Given the description of an element on the screen output the (x, y) to click on. 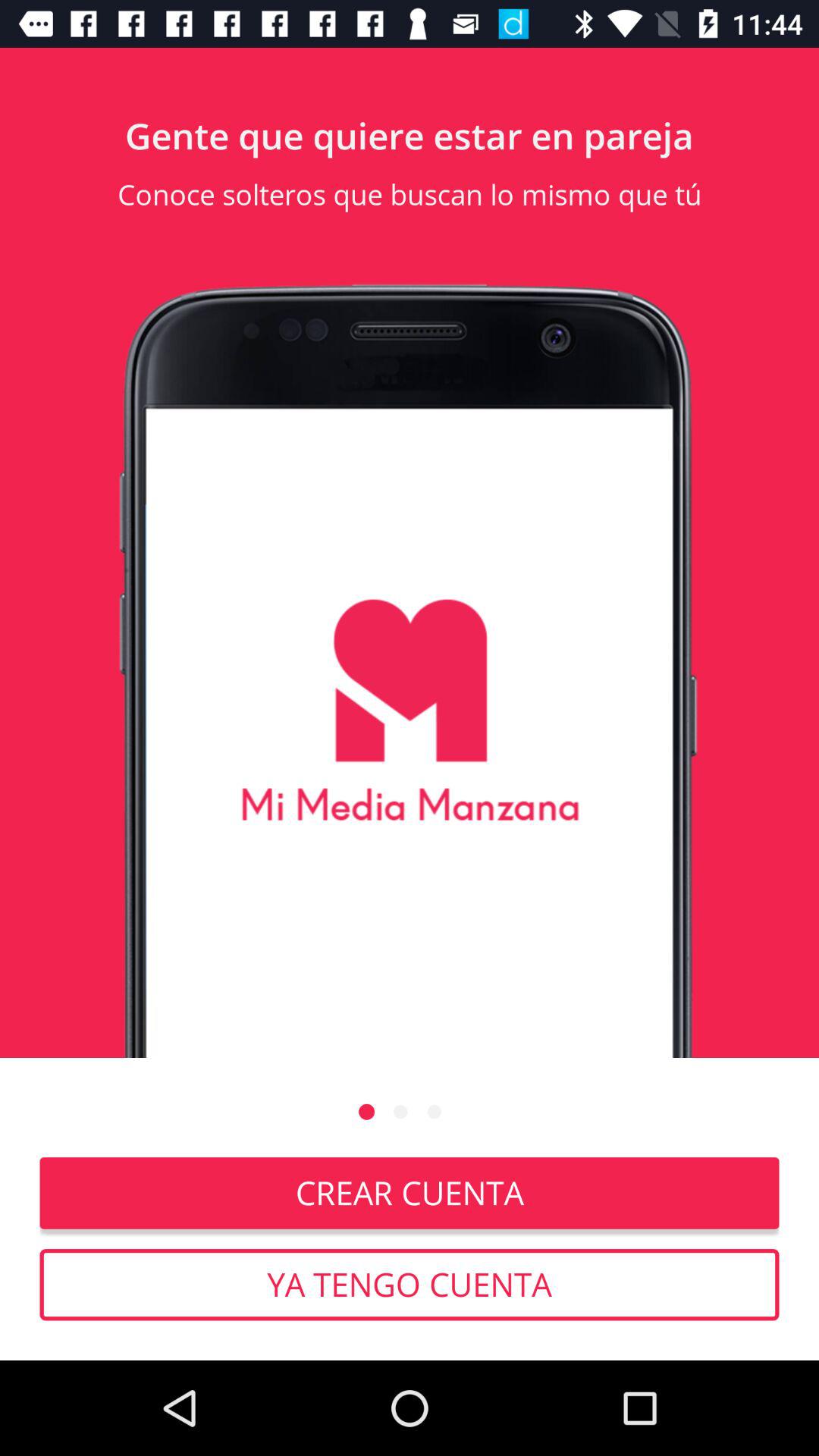
click ya tengo cuenta icon (409, 1284)
